Given the description of an element on the screen output the (x, y) to click on. 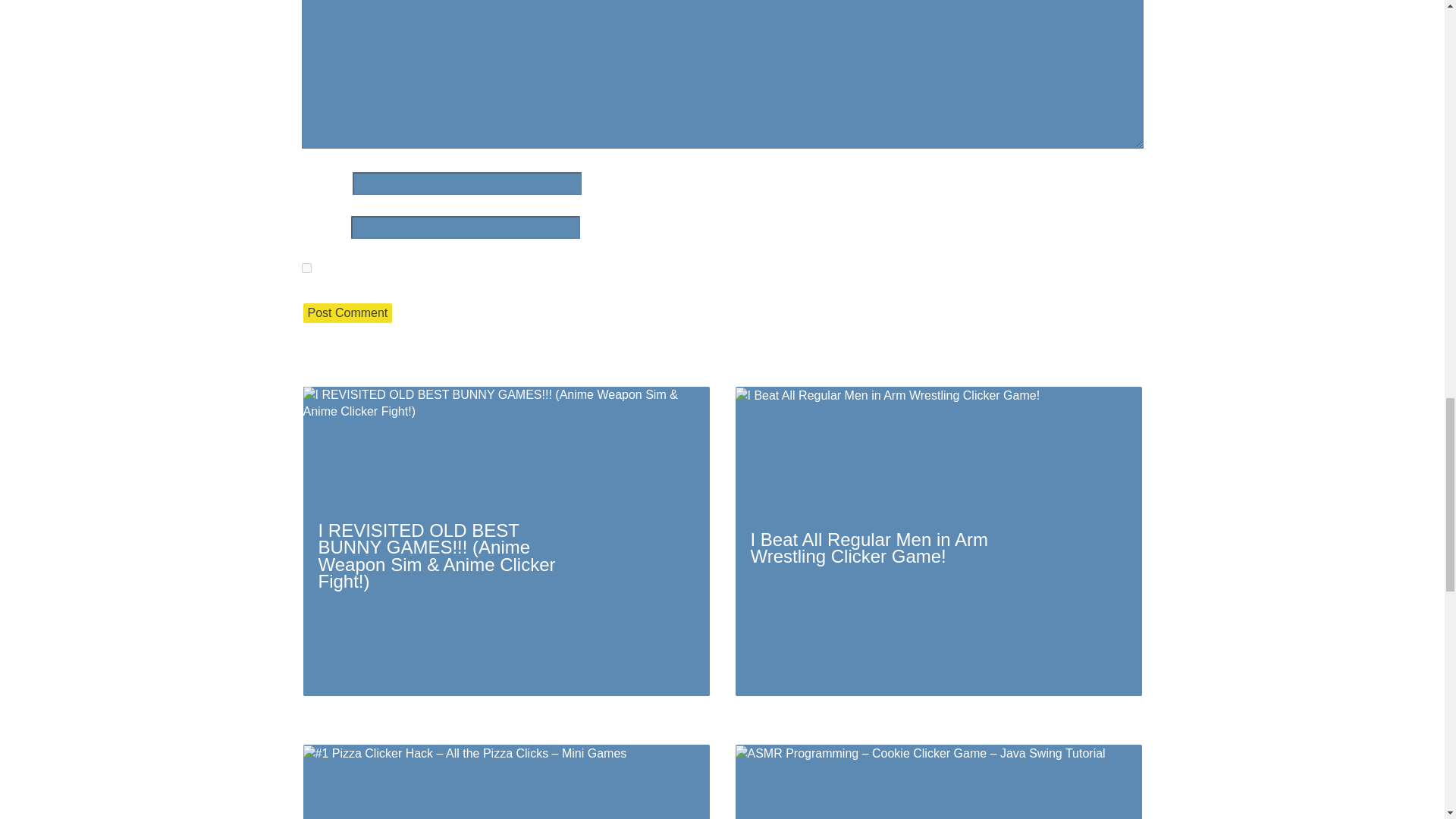
yes (306, 267)
Post Comment (347, 313)
Post Comment (347, 313)
I Beat All Regular Men in Arm Wrestling Clicker Game! (938, 541)
